Given the description of an element on the screen output the (x, y) to click on. 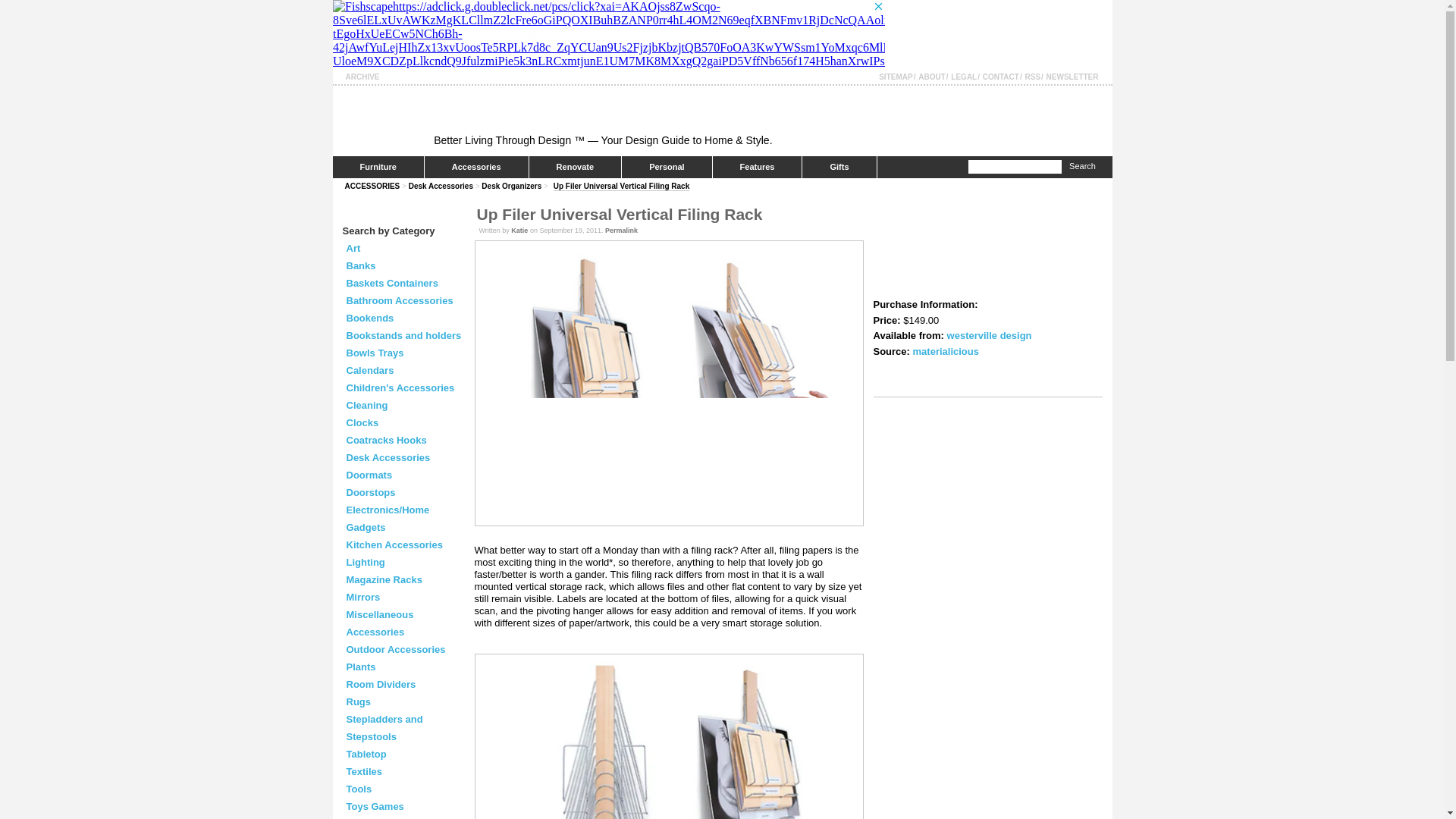
Bowls Trays (374, 352)
LEGAL (963, 76)
Gifts (839, 167)
Cleaning (366, 405)
Furniture (377, 167)
Bathroom Accessories (399, 300)
Desk Accessories (441, 185)
NEWSLETTER (1072, 76)
Up Filer Universal Vertical Filing Rack (621, 185)
ABOUT (931, 76)
